Given the description of an element on the screen output the (x, y) to click on. 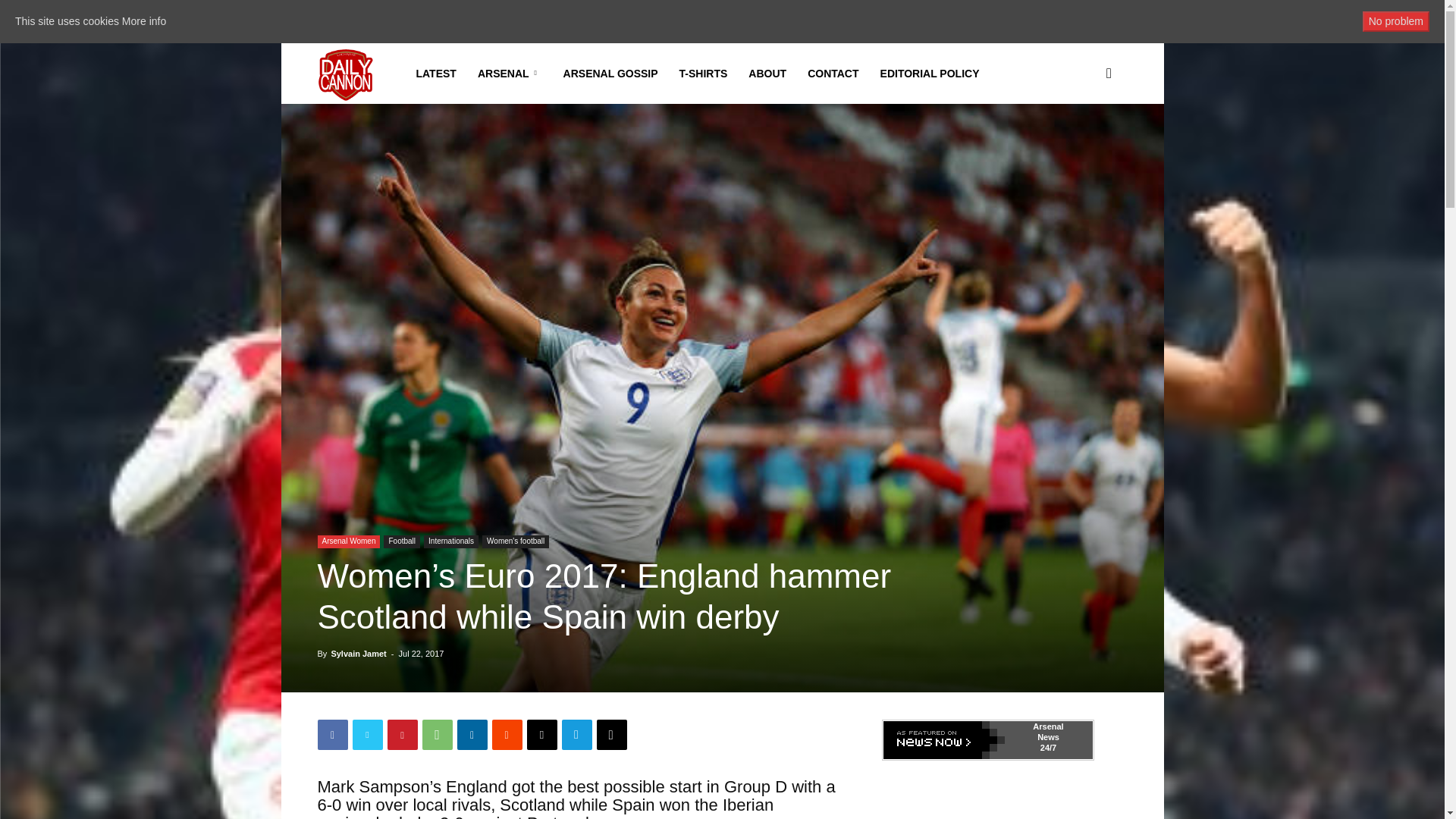
Linkedin (471, 734)
Telegram (575, 734)
WhatsApp (436, 734)
Search (1085, 146)
Facebook (332, 734)
Pinterest (401, 734)
Copy URL (610, 734)
Twitter (366, 734)
ReddIt (506, 734)
Email (540, 734)
